Given the description of an element on the screen output the (x, y) to click on. 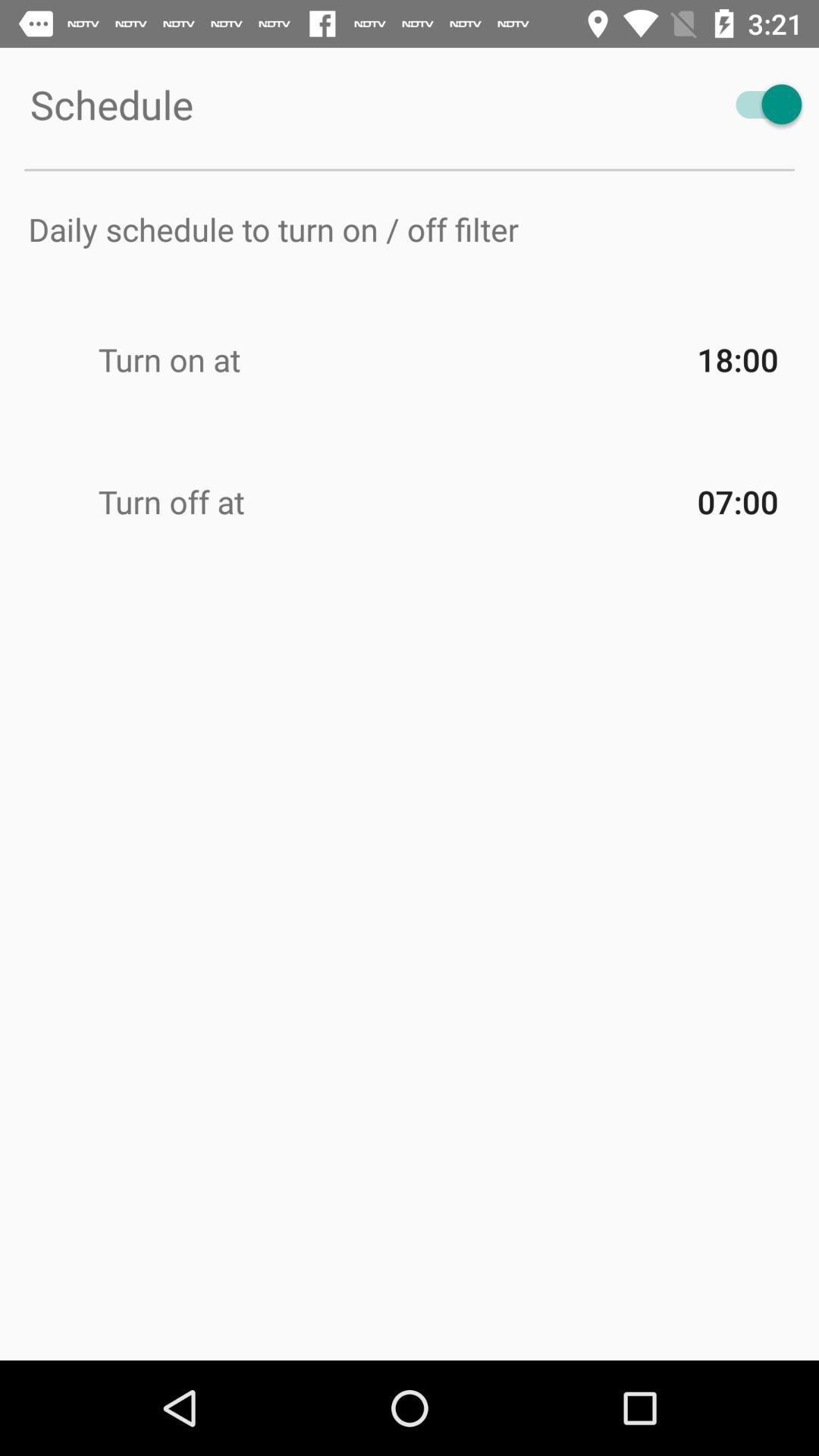
select the item next to the schedule icon (761, 104)
